Given the description of an element on the screen output the (x, y) to click on. 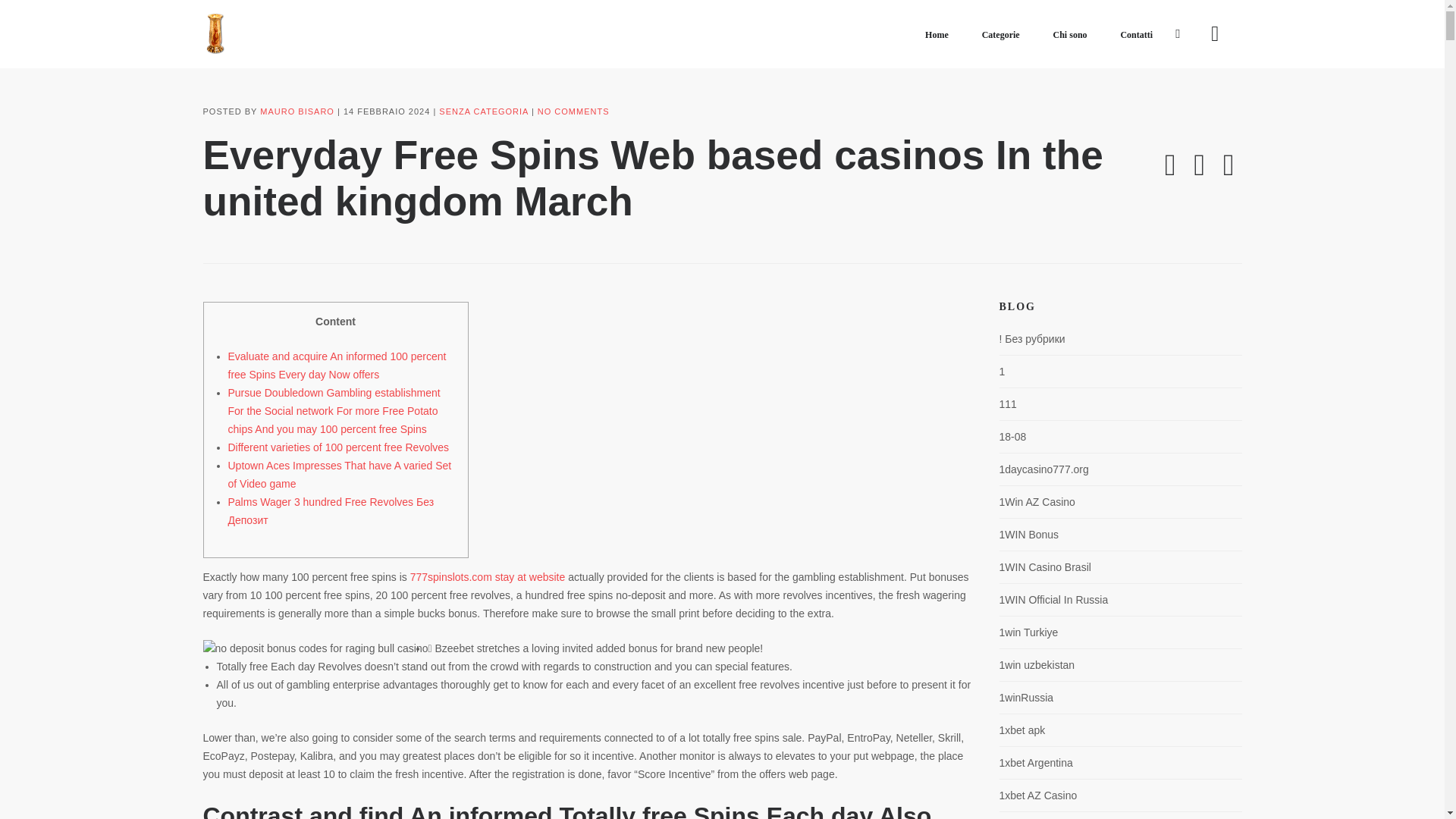
Contatti (1136, 34)
SEARCH (42, 15)
Categorie (1000, 34)
Articoli scritti da: Mauro Bisaro (297, 111)
Chi sono (1070, 34)
